Given the description of an element on the screen output the (x, y) to click on. 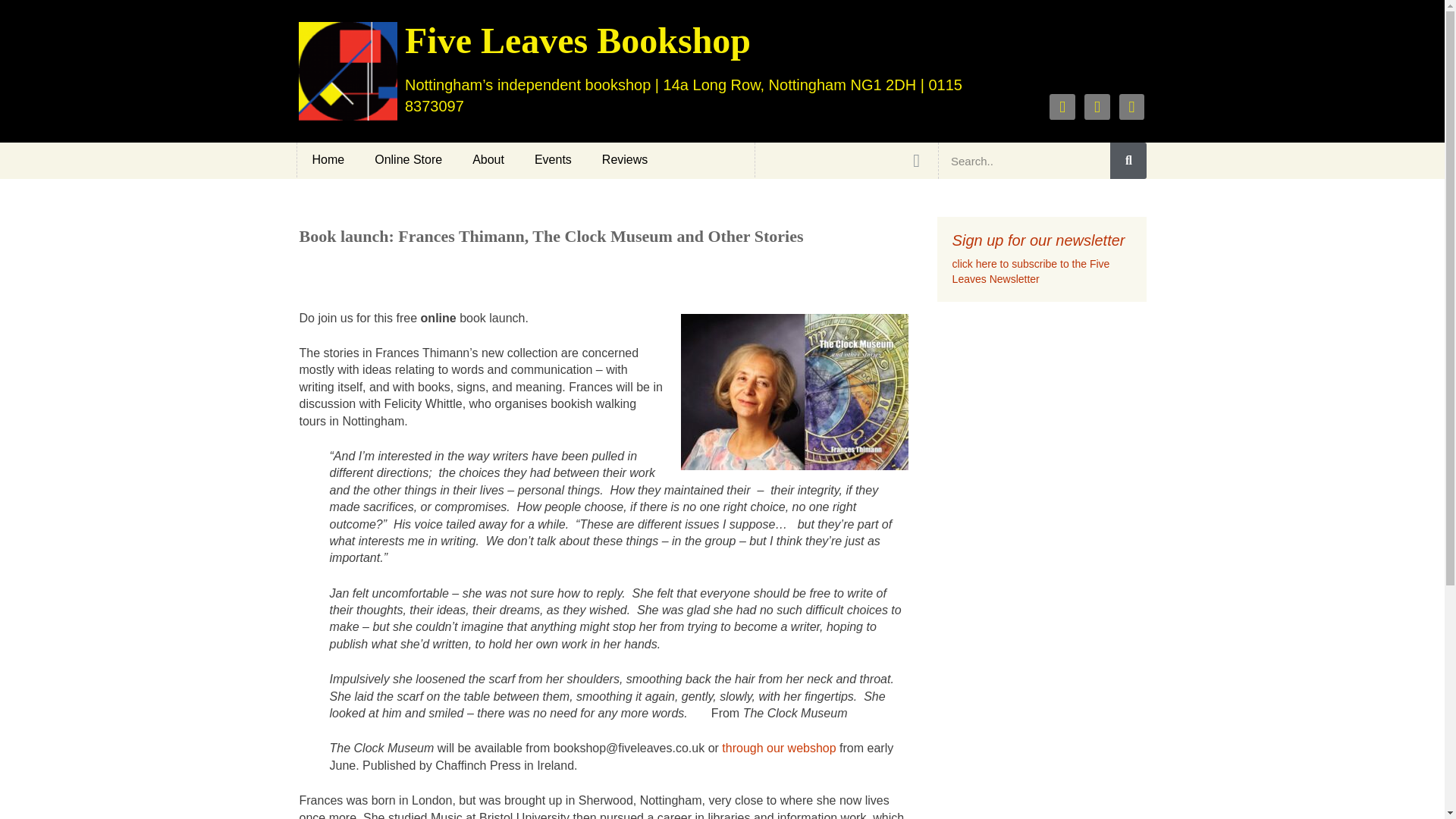
click here to subscribe to the Five Leaves Newsletter (1030, 271)
through our webshop (778, 748)
Five Leaves Bookshop (577, 40)
About (488, 159)
Sign up for our newsletter (1038, 239)
Events (552, 159)
Home (328, 159)
Search (1024, 160)
Online Store (408, 159)
Search (1128, 160)
logo-cropped (347, 71)
Reviews (624, 159)
